Given the description of an element on the screen output the (x, y) to click on. 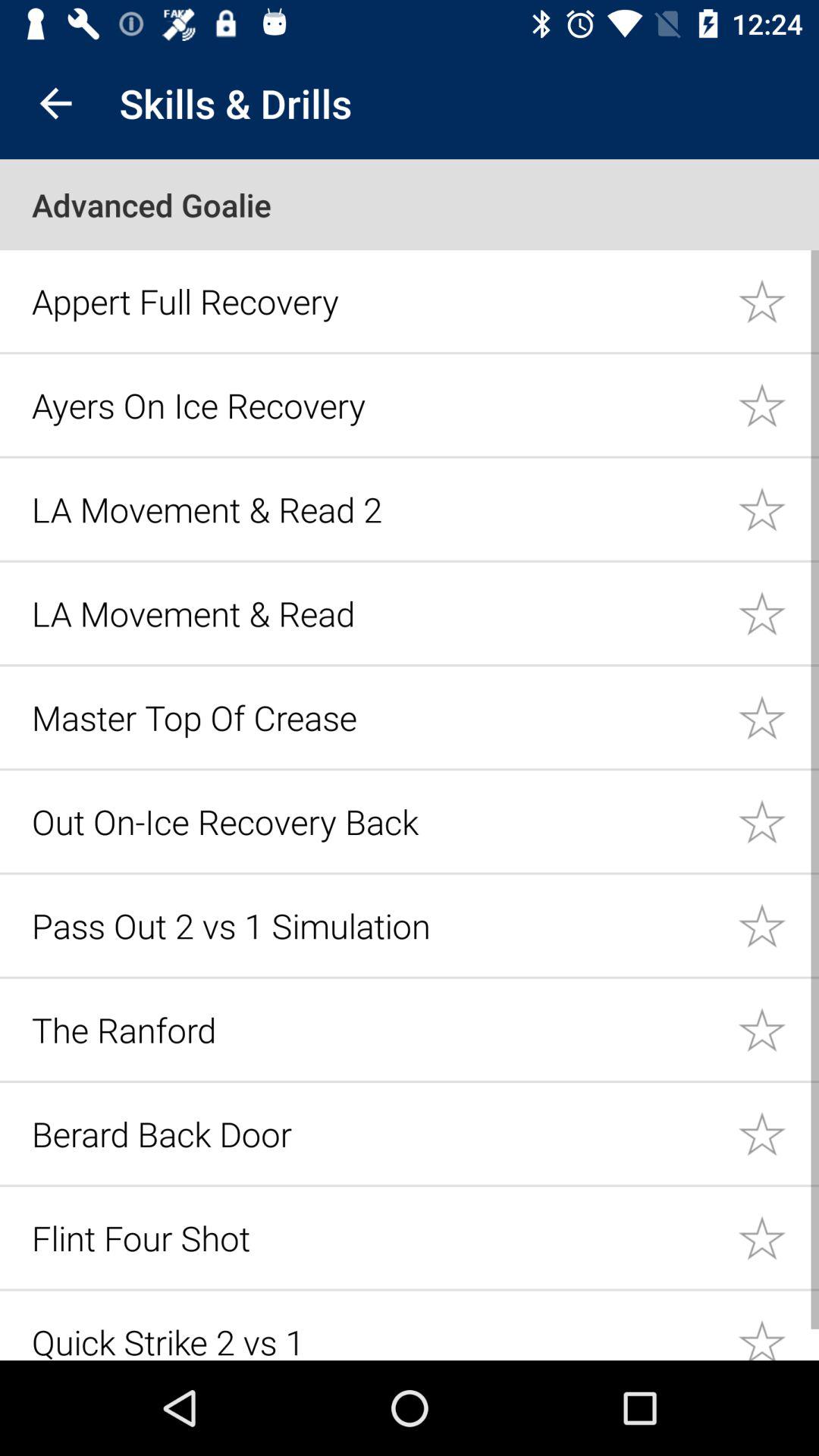
select icon above the quick strike 2 item (376, 1237)
